Given the description of an element on the screen output the (x, y) to click on. 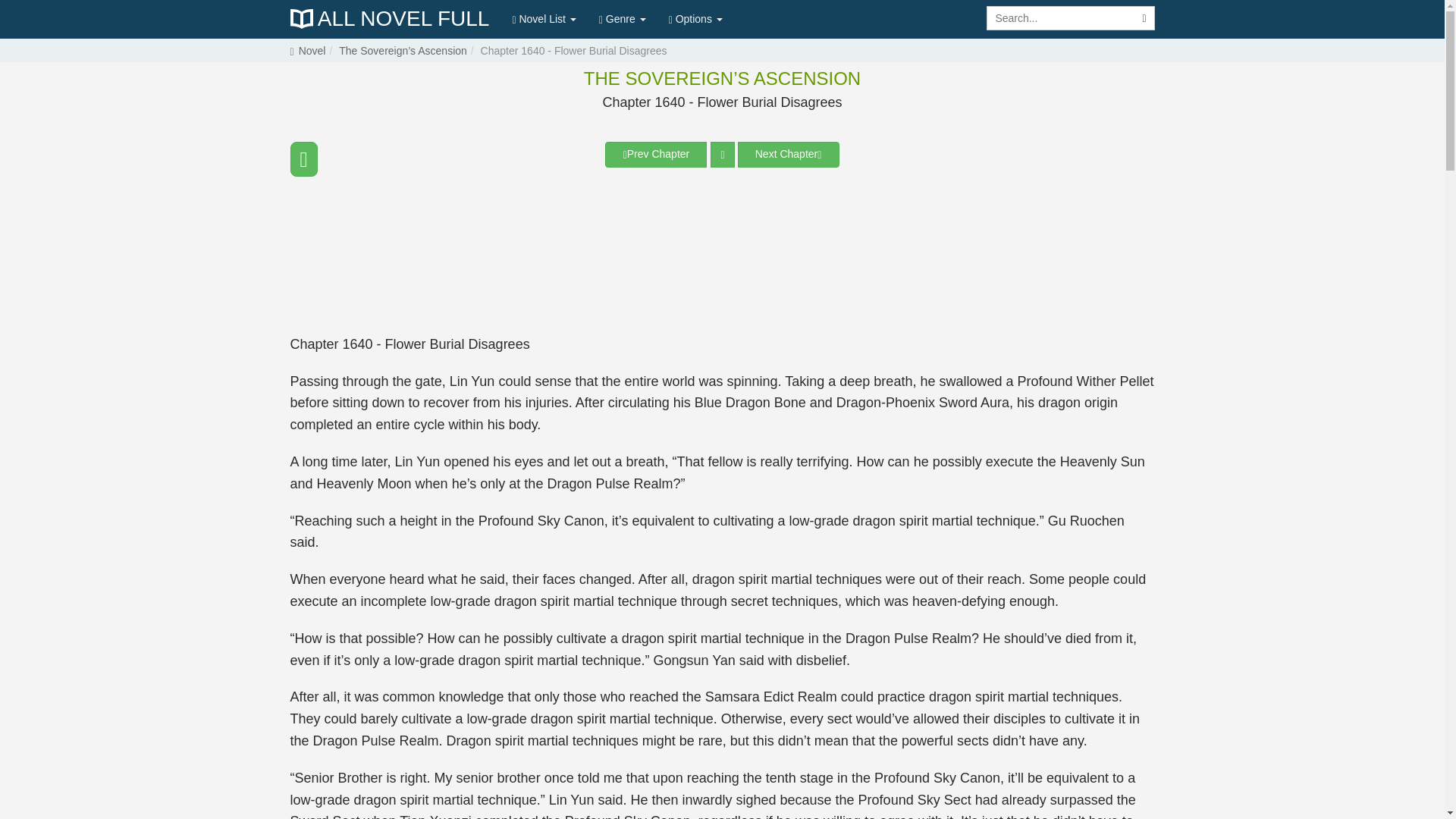
Genre (623, 18)
ALL NOVEL FULL (389, 18)
All Novel Full (389, 18)
Novel List (543, 18)
